Given the description of an element on the screen output the (x, y) to click on. 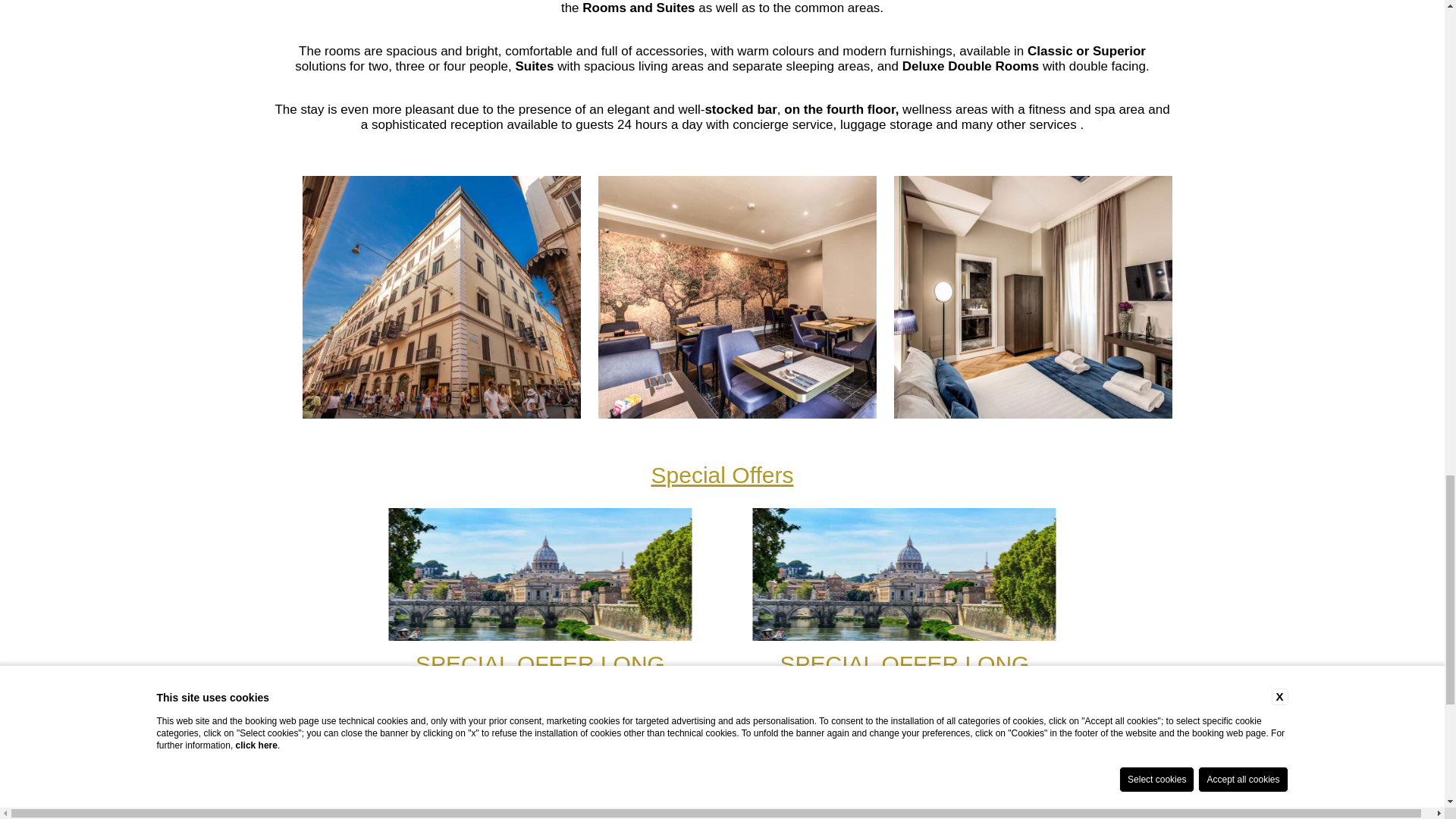
Hotel (904, 573)
Hotel (1055, 297)
Hotel (759, 297)
Hotel (464, 297)
Hotel (539, 573)
